Given the description of an element on the screen output the (x, y) to click on. 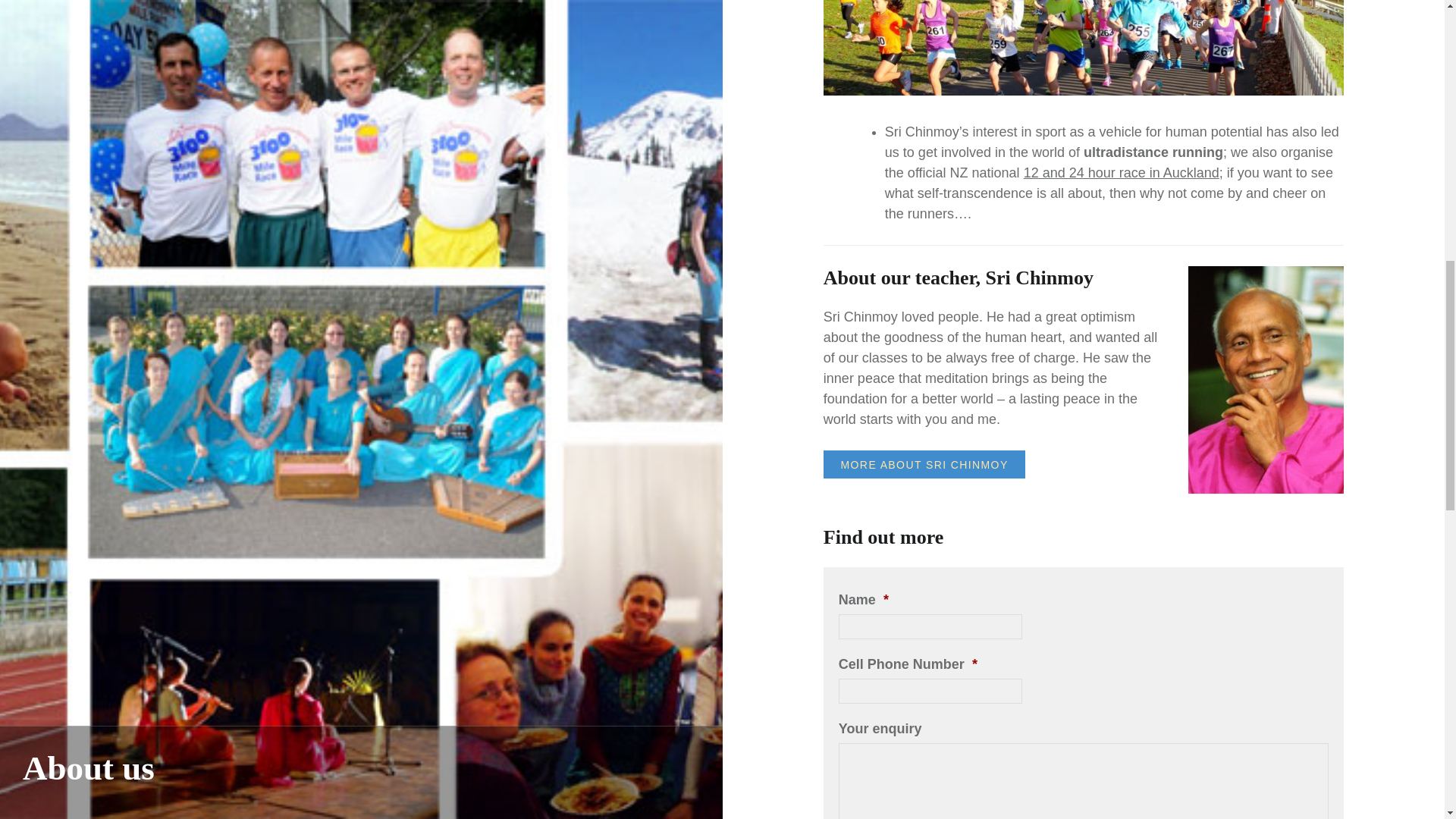
MORE ABOUT SRI CHINMOY (924, 464)
12 and 24 hour race in Auckland (1121, 172)
